Given the description of an element on the screen output the (x, y) to click on. 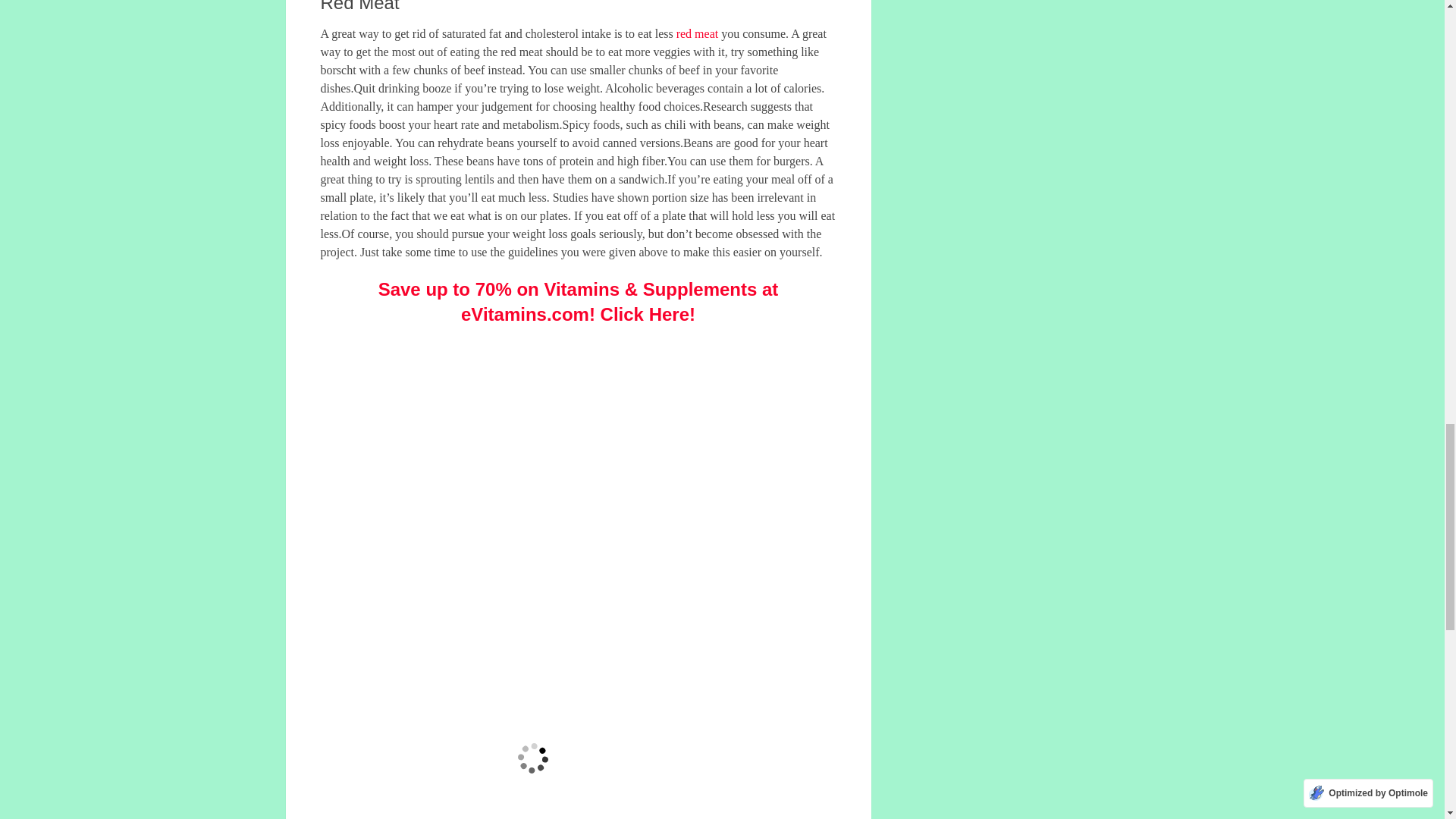
YouTube video player (532, 729)
Lose Weight Quickly And Safely Using These Simple Tips (584, 479)
red meat (698, 33)
